Given the description of an element on the screen output the (x, y) to click on. 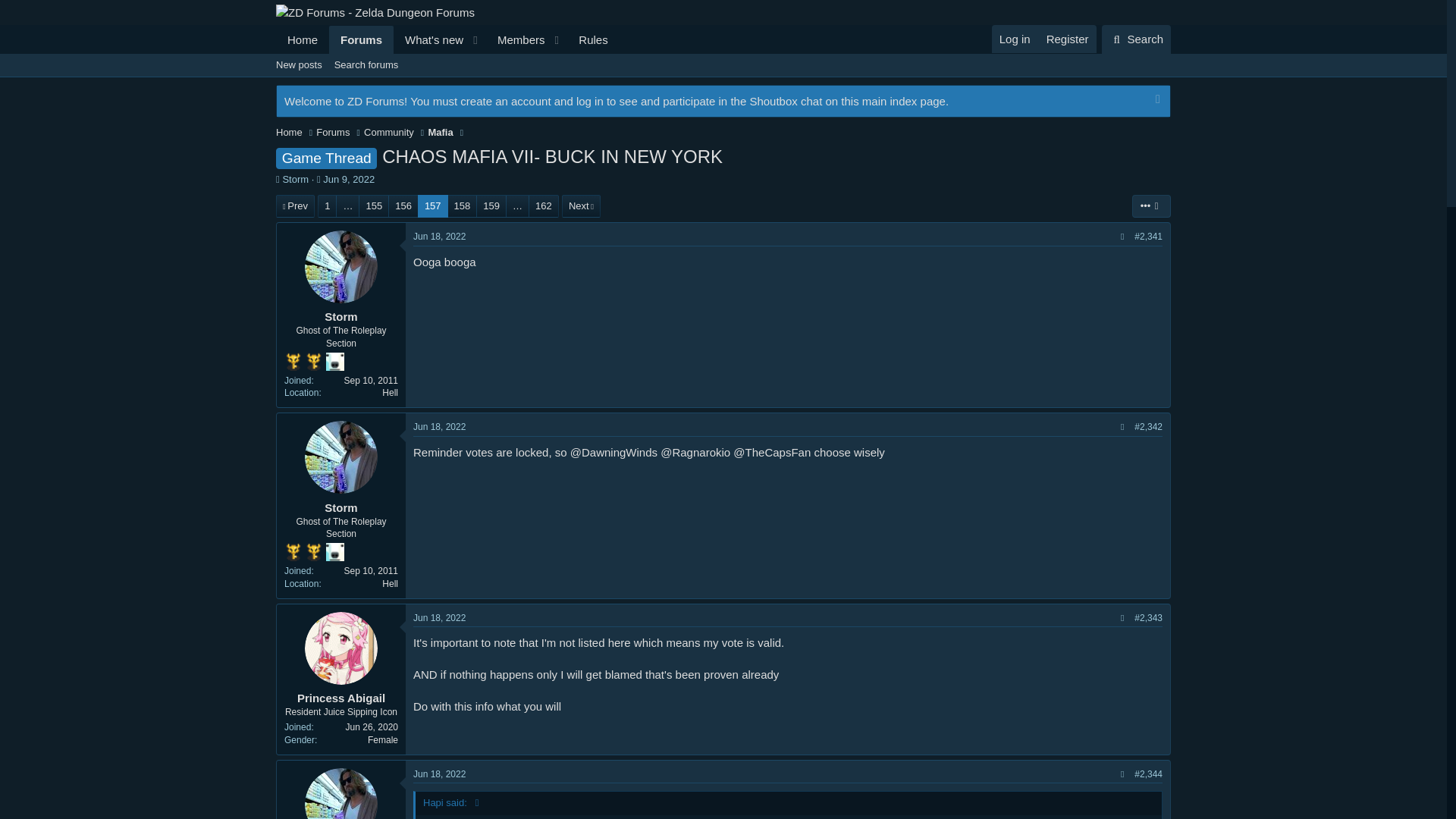
Forums (361, 39)
Search forums (366, 65)
More options (1151, 205)
Jun 18, 2022 at 6:55 AM (439, 235)
Home (302, 39)
Mafia (440, 132)
Jun 18, 2022 at 6:58 AM (439, 426)
Jun 9, 2022 (348, 179)
Search (1136, 39)
Jun 9, 2022 at 10:09 PM (348, 179)
What's new (428, 39)
Jun 18, 2022 at 8:55 AM (439, 774)
Search (722, 82)
Home (1136, 39)
